Given the description of an element on the screen output the (x, y) to click on. 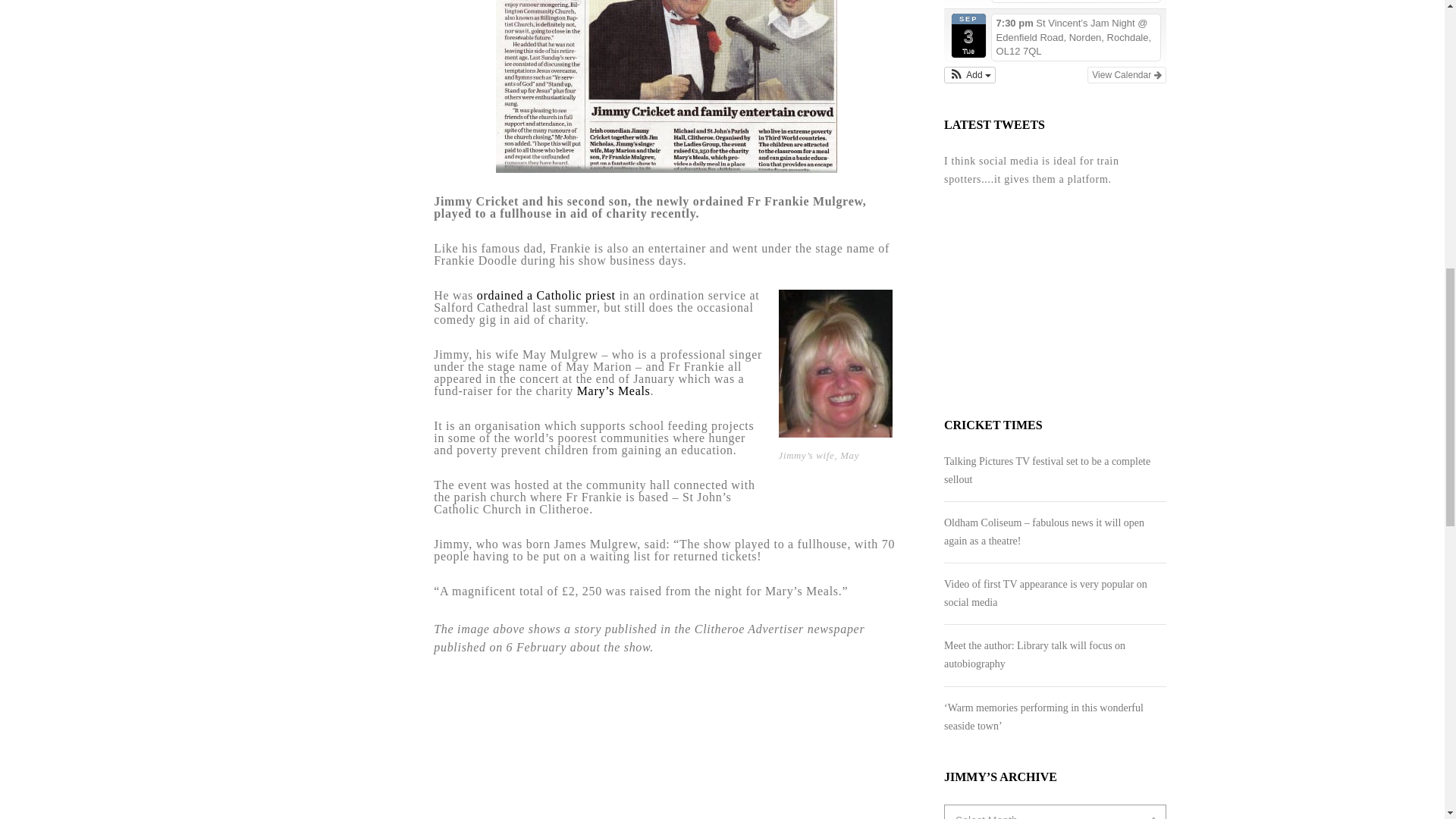
ordained a Catholic priest (548, 295)
View Calendar (1126, 74)
